Given the description of an element on the screen output the (x, y) to click on. 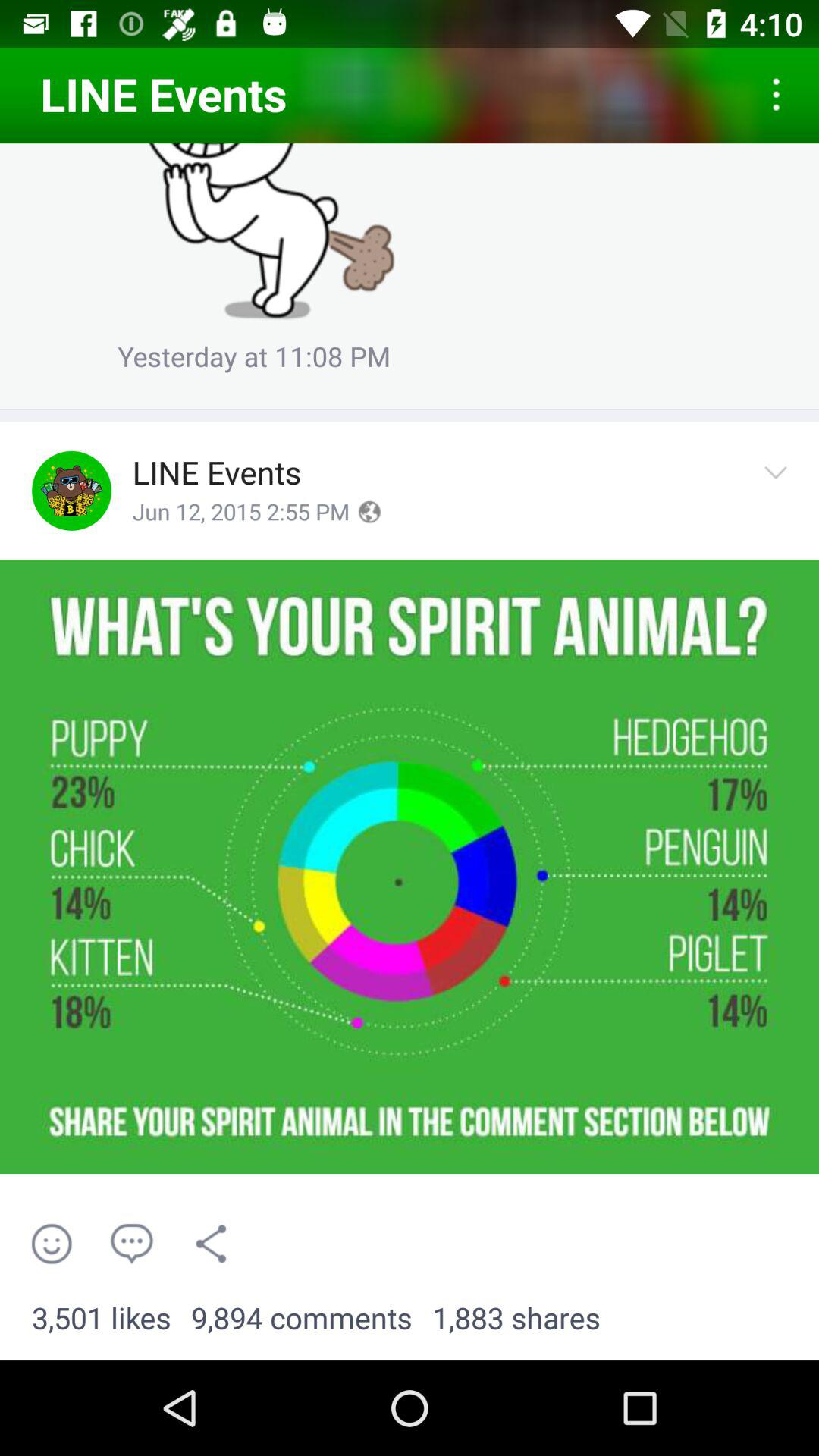
press item on the right (780, 490)
